Given the description of an element on the screen output the (x, y) to click on. 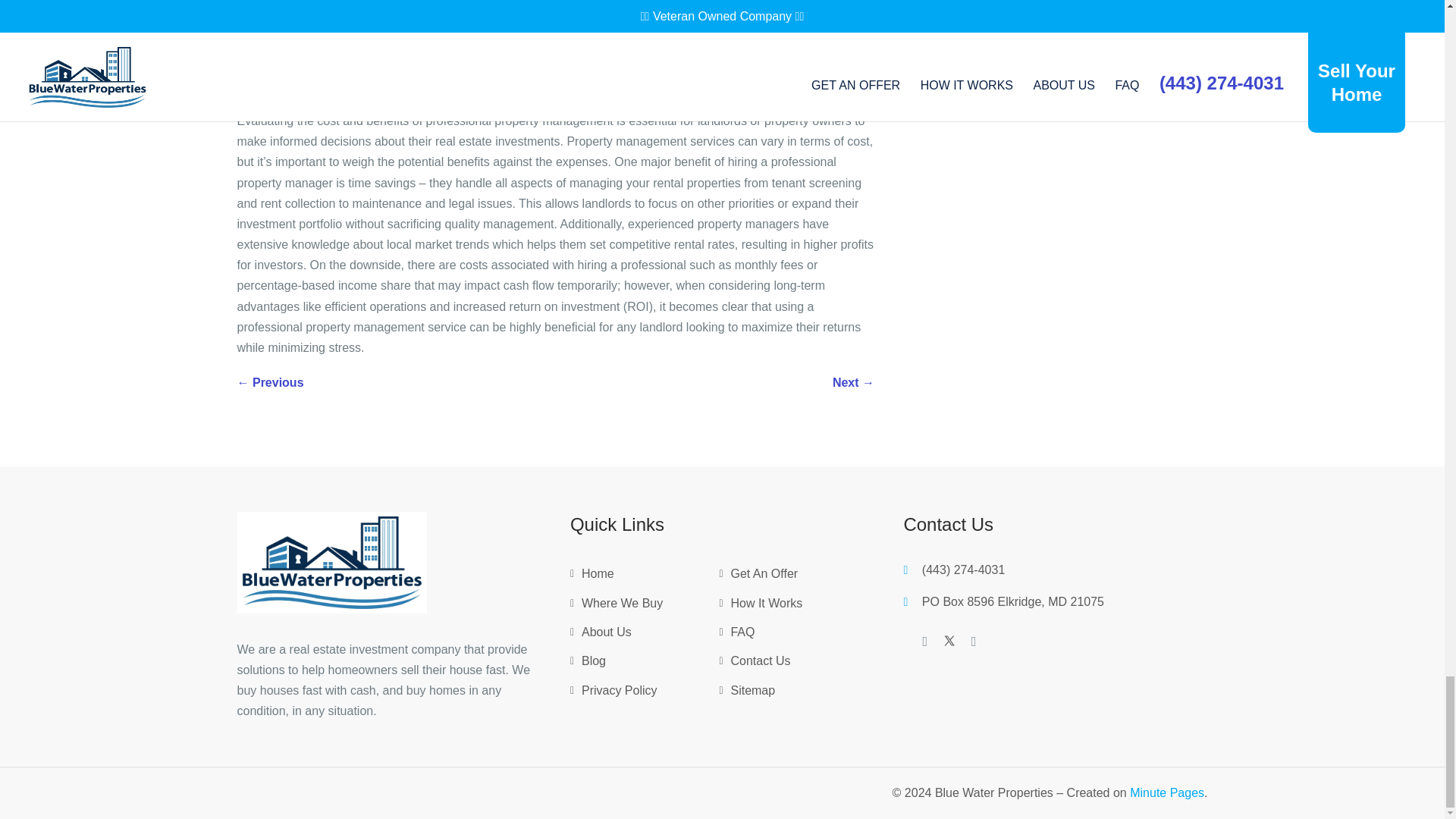
Home (597, 576)
How It Works (766, 606)
Where We Buy (621, 606)
About Us (605, 635)
Get An Offer (763, 576)
